Given the description of an element on the screen output the (x, y) to click on. 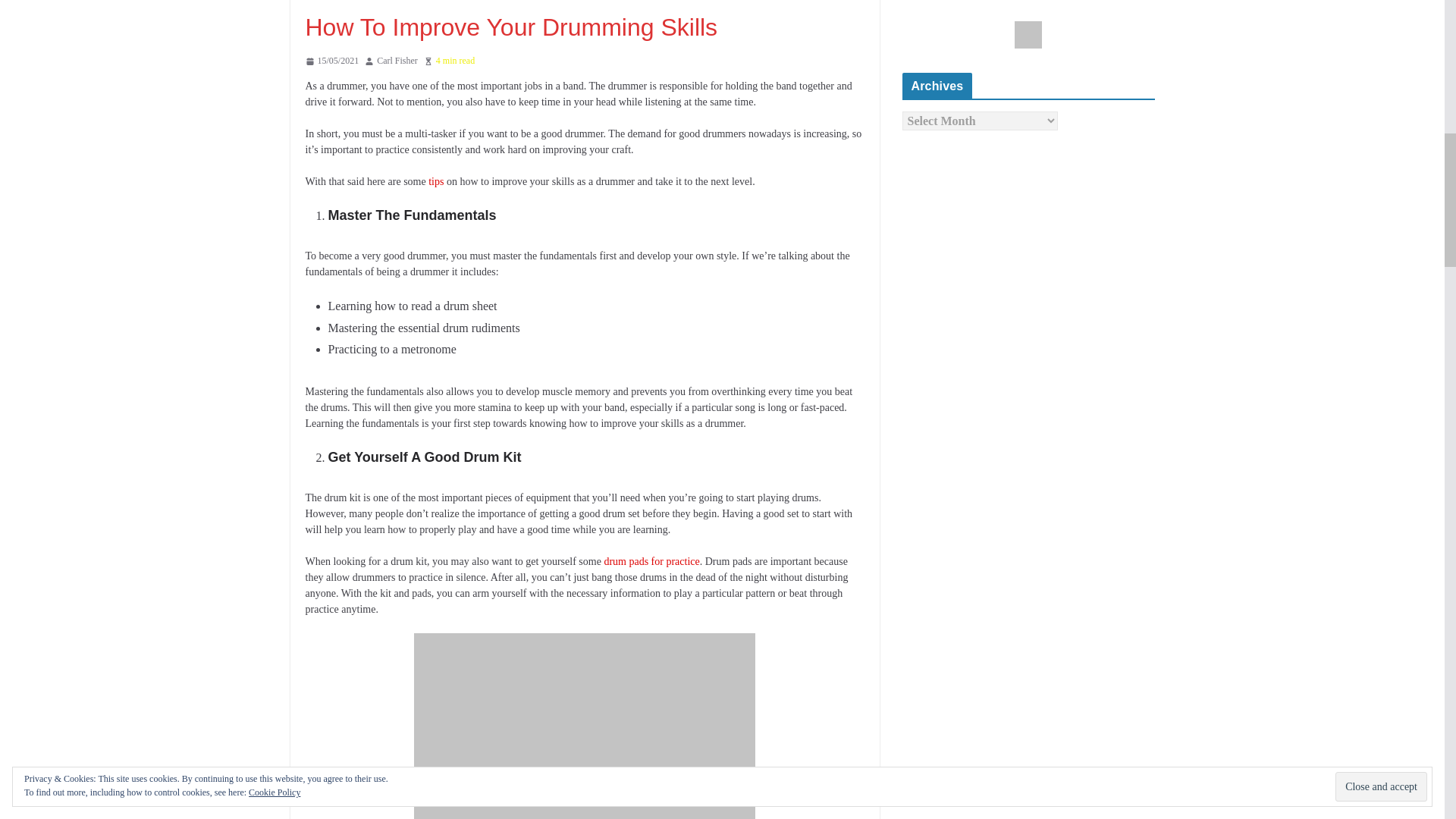
Carl Fisher (397, 61)
1:57 AM (331, 61)
